Given the description of an element on the screen output the (x, y) to click on. 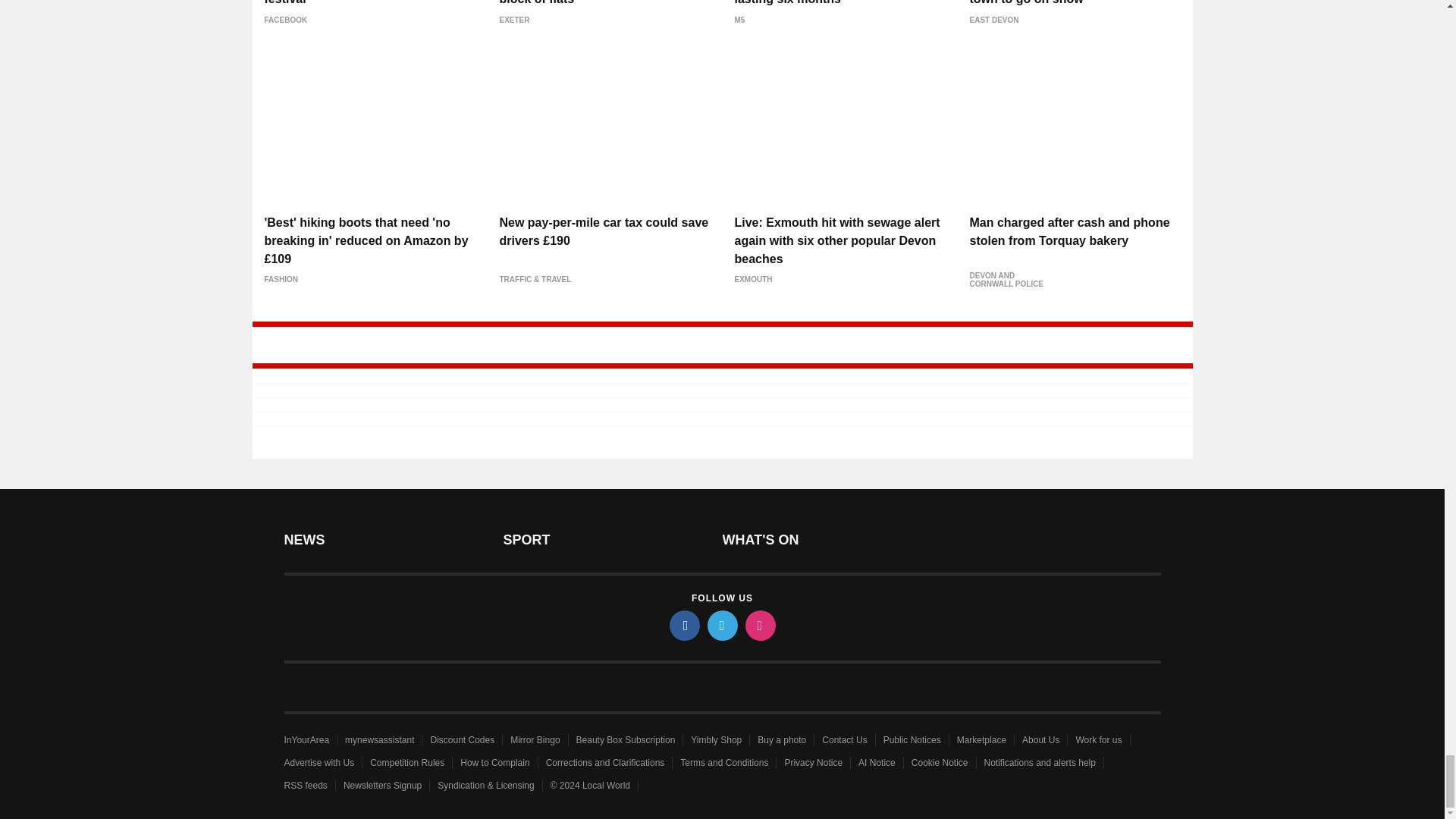
twitter (721, 625)
instagram (759, 625)
facebook (683, 625)
